Given the description of an element on the screen output the (x, y) to click on. 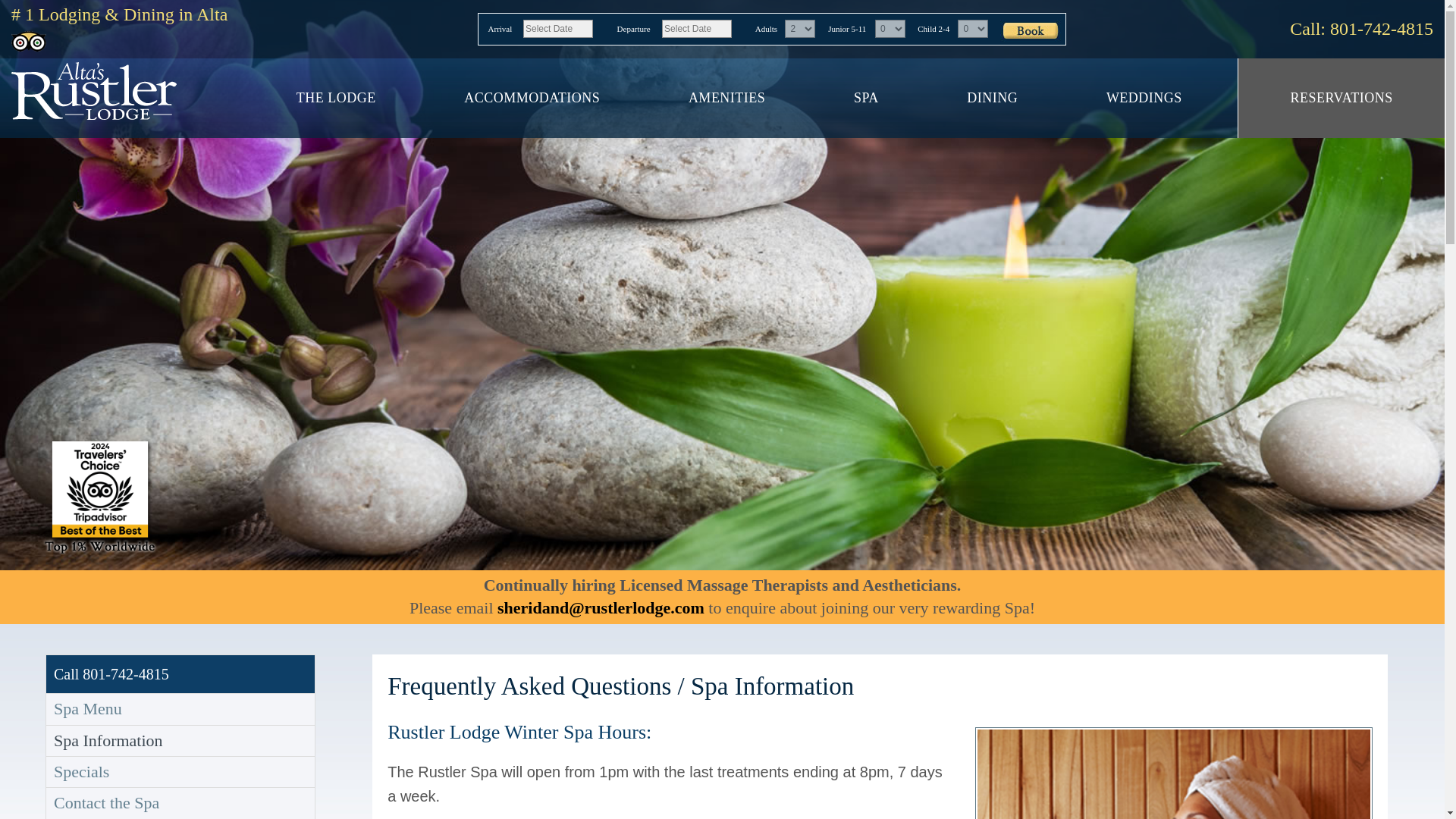
Spa Menu (180, 708)
Contact the Spa (180, 802)
Spa Information (180, 740)
THE LODGE (335, 98)
Call: 801-742-4815 (1361, 28)
AMENITIES (727, 98)
Specials (180, 771)
WEDDINGS (1144, 98)
ACCOMMODATIONS (532, 98)
RESERVATIONS (1341, 98)
DINING (992, 98)
SPA (866, 98)
